Given the description of an element on the screen output the (x, y) to click on. 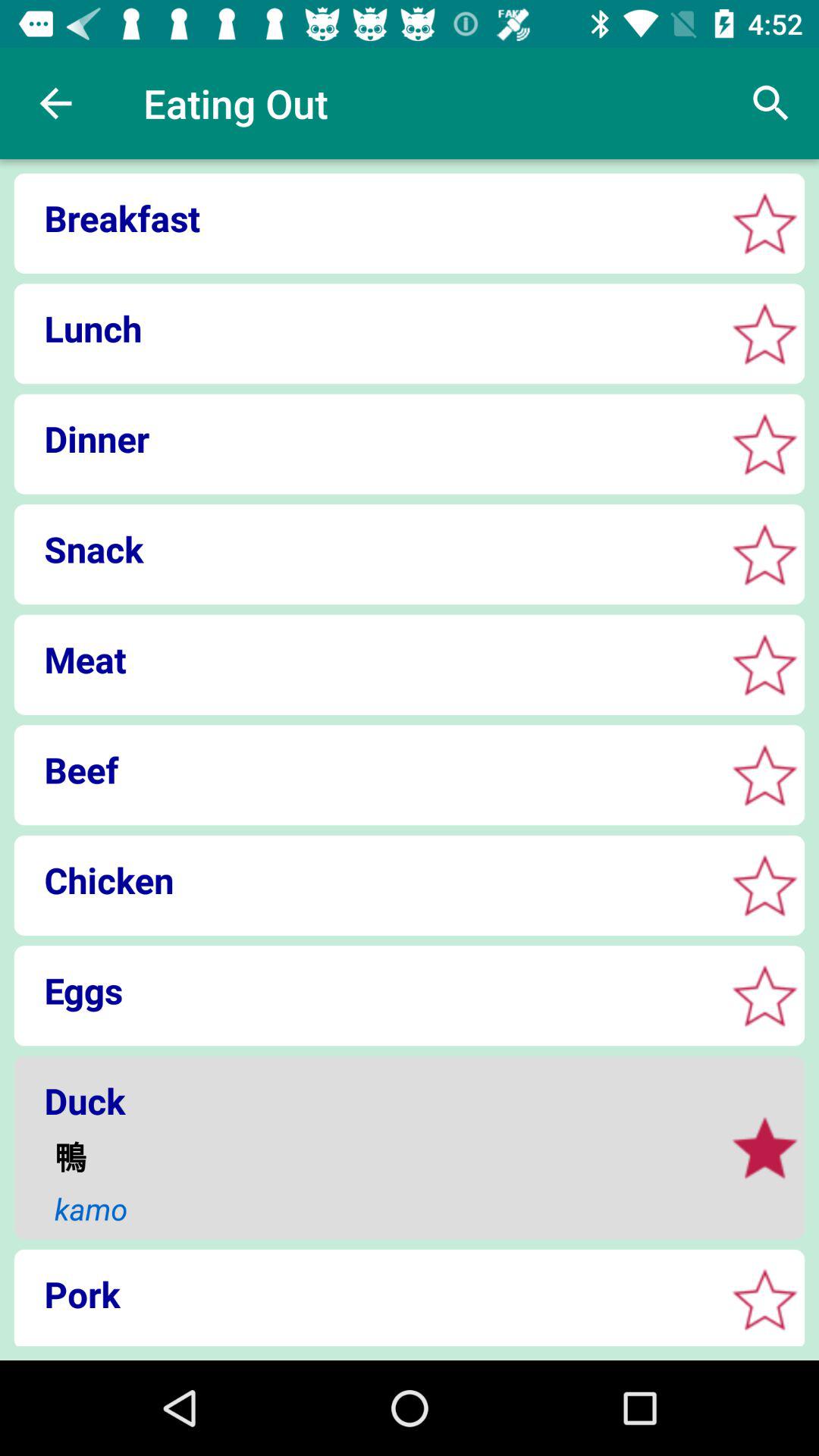
click icon above the eggs icon (364, 879)
